Given the description of an element on the screen output the (x, y) to click on. 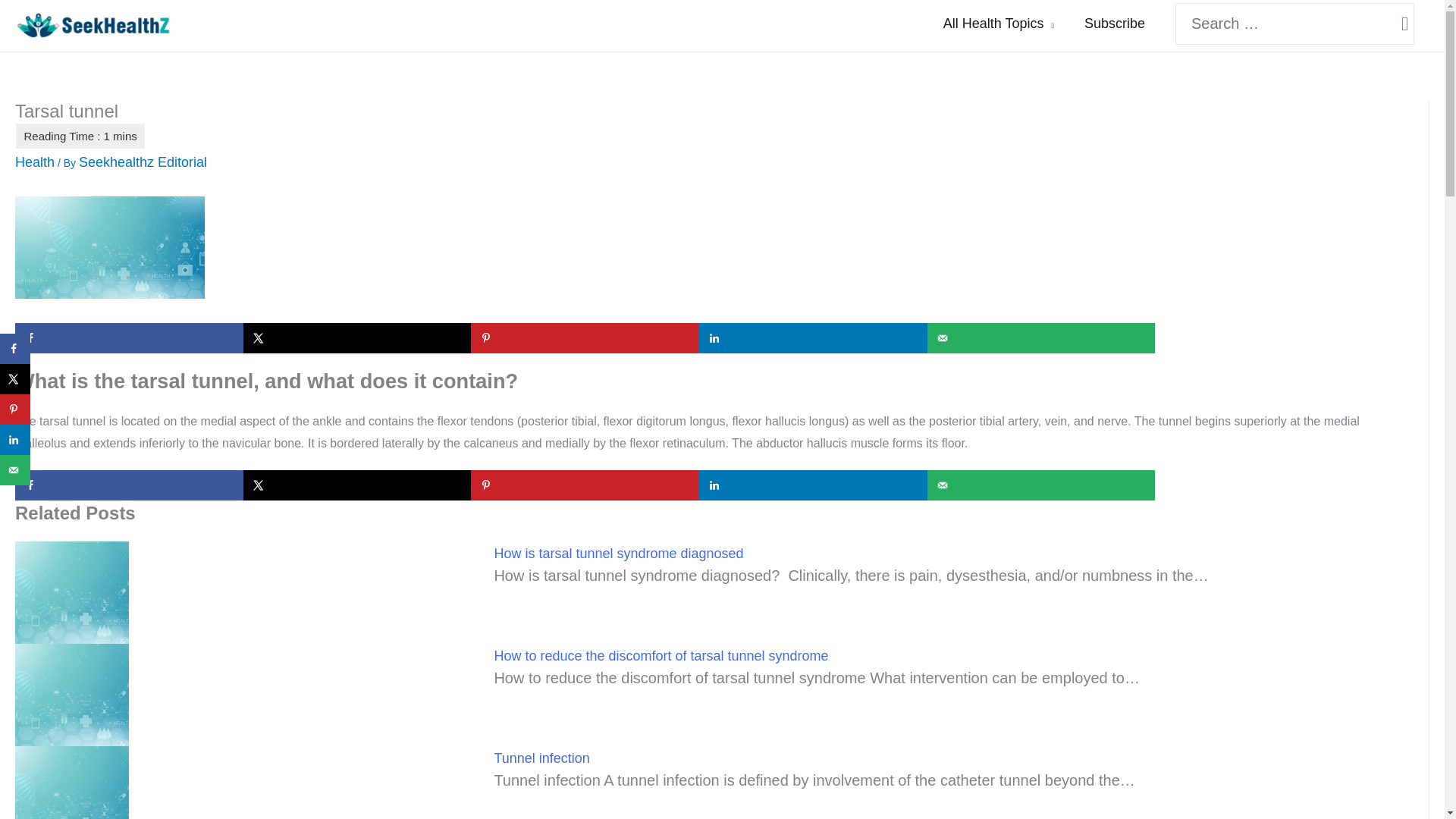
Share on Facebook (128, 337)
Save to Pinterest (584, 485)
Share on LinkedIn (812, 485)
Share on LinkedIn (812, 337)
Subscribe (1114, 23)
How is tarsal tunnel syndrome diagnosed (617, 553)
All Health Topics (998, 23)
Share on Facebook (128, 485)
Share on X (357, 485)
Share on Facebook (15, 348)
Share on X (15, 378)
Health (34, 161)
How to reduce the discomfort of tarsal tunnel syndrome (660, 655)
Send over email (1041, 337)
Send over email (1041, 485)
